Given the description of an element on the screen output the (x, y) to click on. 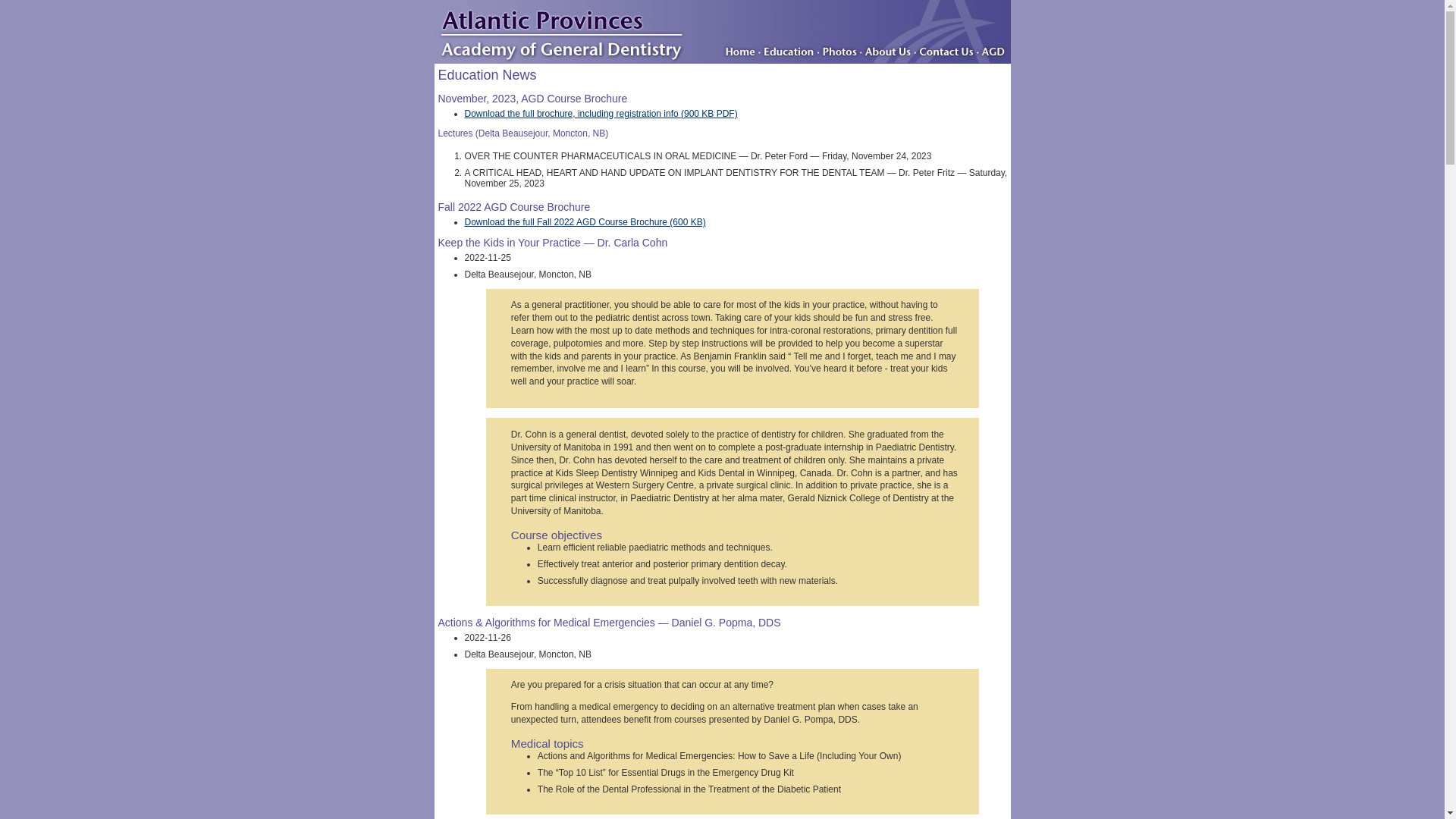
Download the full Fall 2022 AGD Course Brochure (600 KB) Element type: text (584, 221)
